Given the description of an element on the screen output the (x, y) to click on. 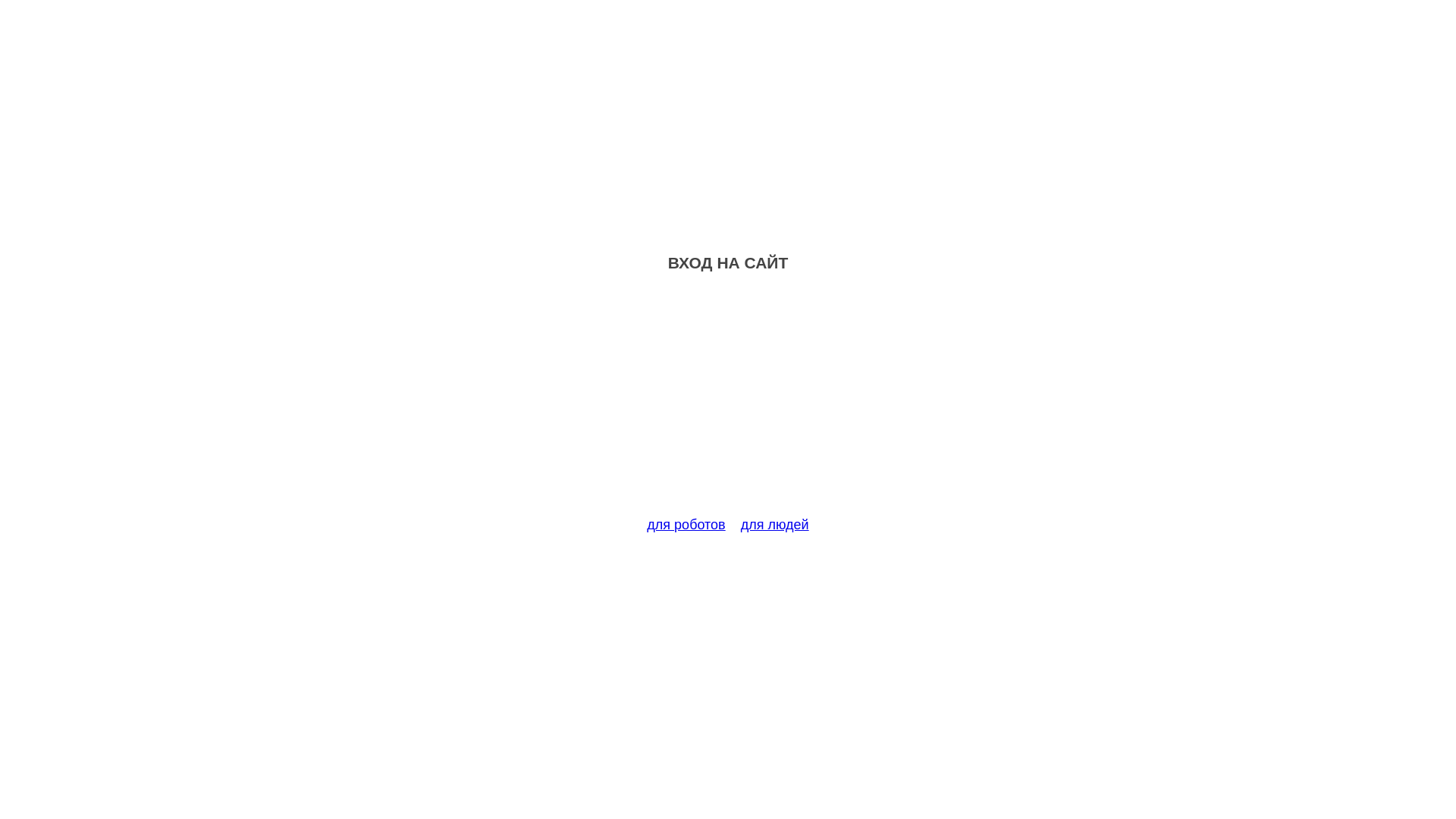
Advertisement Element type: hover (727, 403)
